Given the description of an element on the screen output the (x, y) to click on. 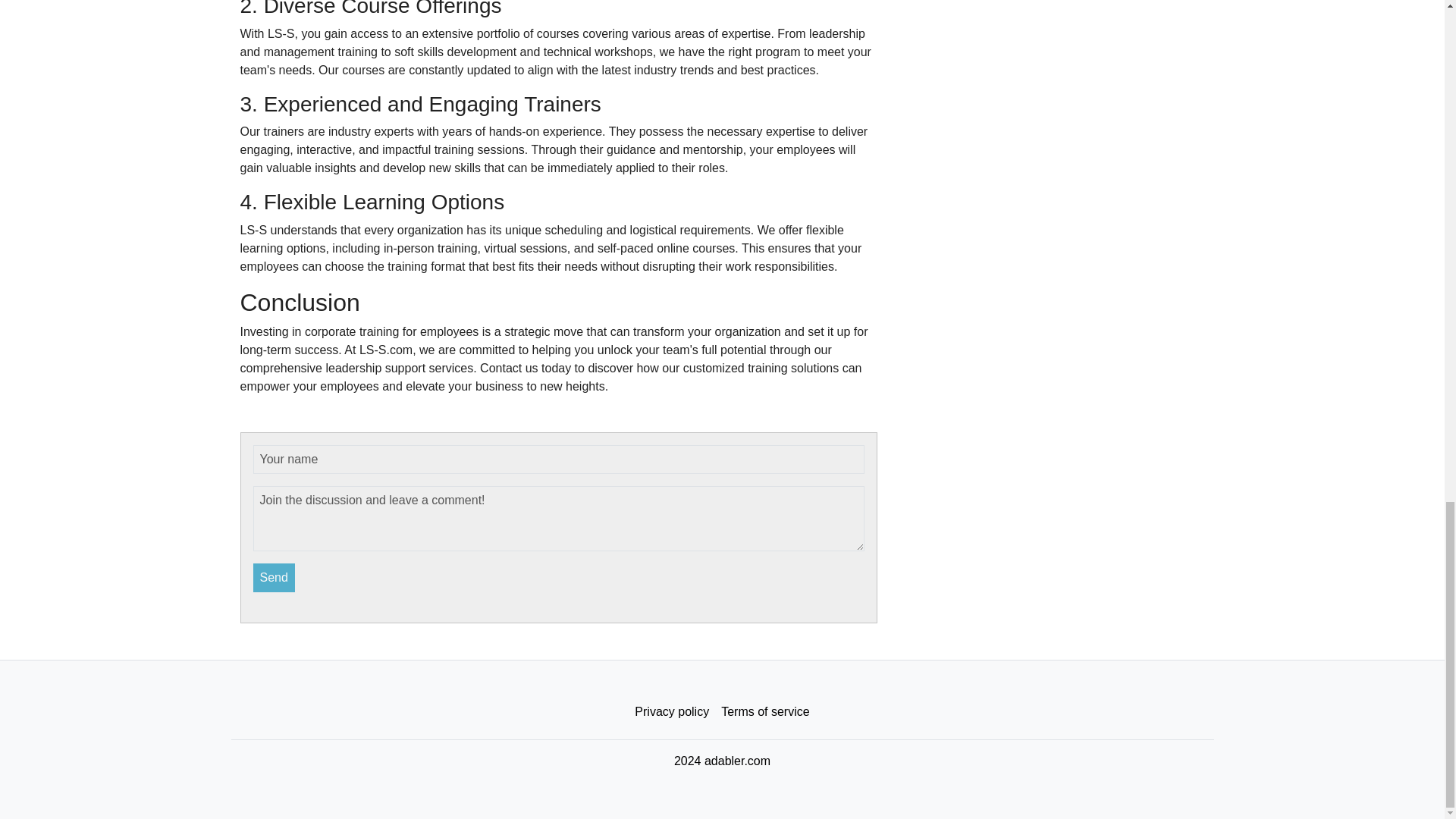
Terms of service (764, 711)
Send (274, 577)
Send (274, 577)
Privacy policy (671, 711)
